Given the description of an element on the screen output the (x, y) to click on. 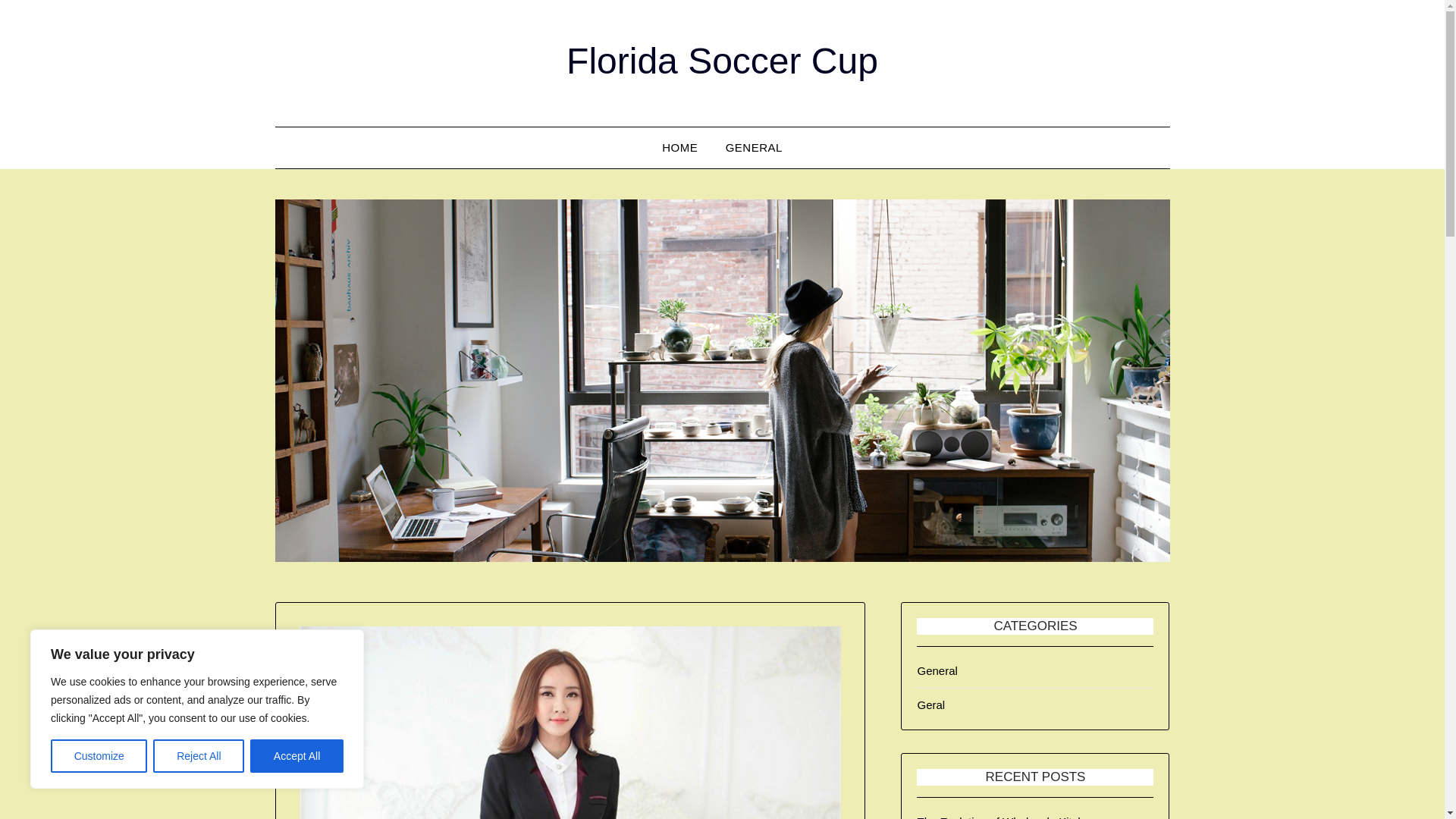
Geral (930, 704)
HOME (679, 147)
The Evolution of Wholesale Kitchen Equipment (1006, 816)
Customize (98, 756)
General (936, 670)
Reject All (198, 756)
Accept All (296, 756)
Florida Soccer Cup (721, 60)
GENERAL (753, 147)
